Given the description of an element on the screen output the (x, y) to click on. 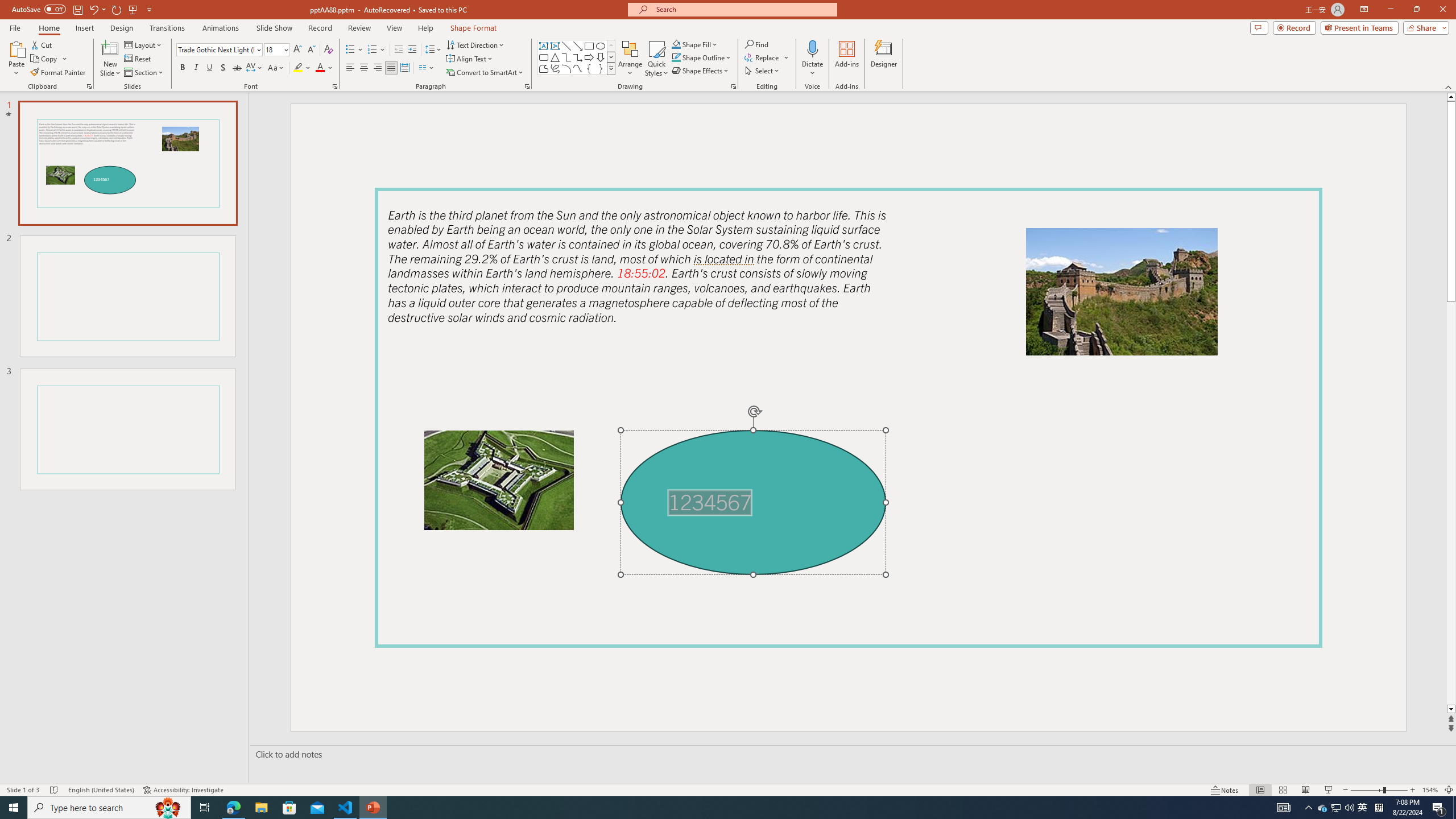
Zoom 154% (1430, 790)
